Given the description of an element on the screen output the (x, y) to click on. 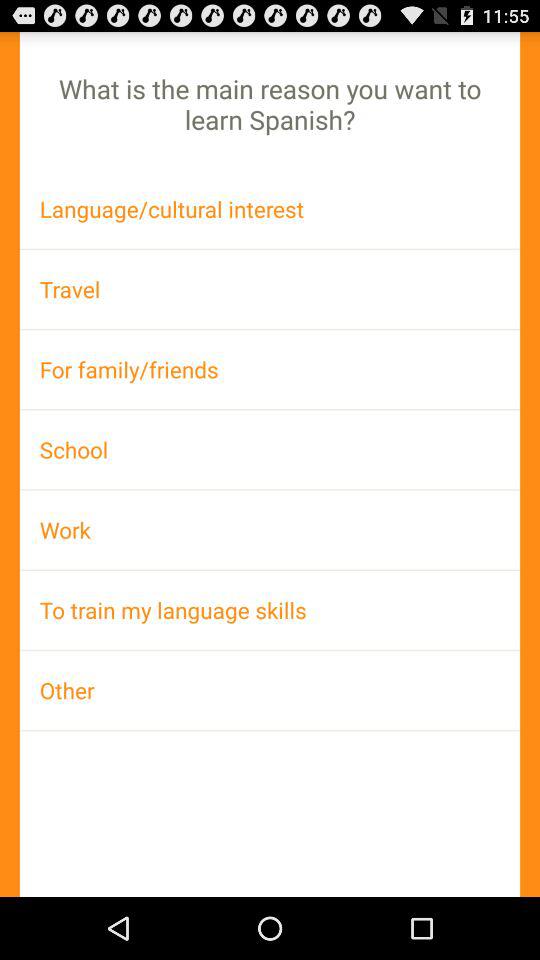
click the app above the for family/friends item (269, 288)
